Given the description of an element on the screen output the (x, y) to click on. 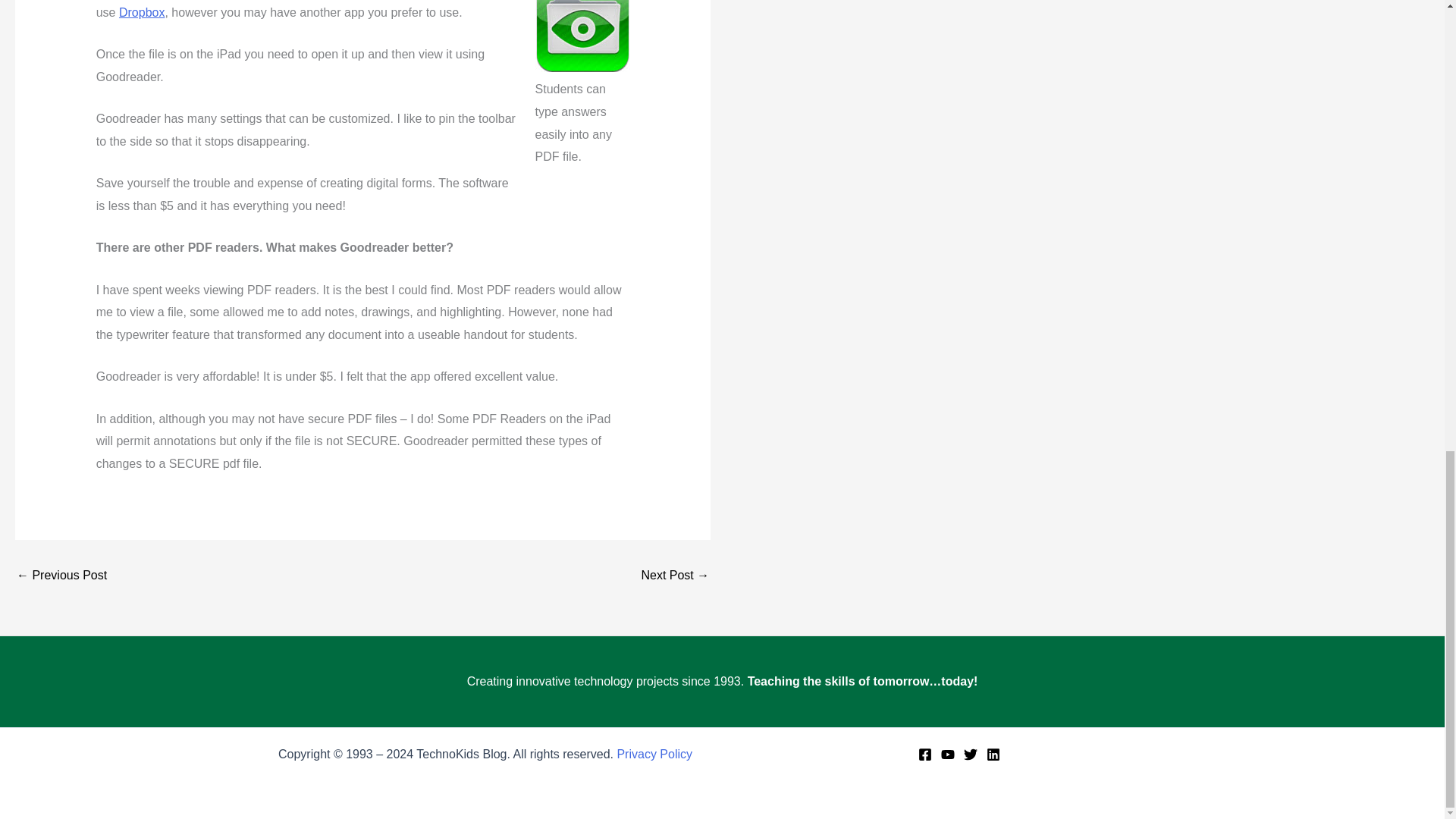
PowerPoint Scrapbook (674, 575)
Print from your iPad Easily (61, 575)
Dropbox (141, 11)
